Given the description of an element on the screen output the (x, y) to click on. 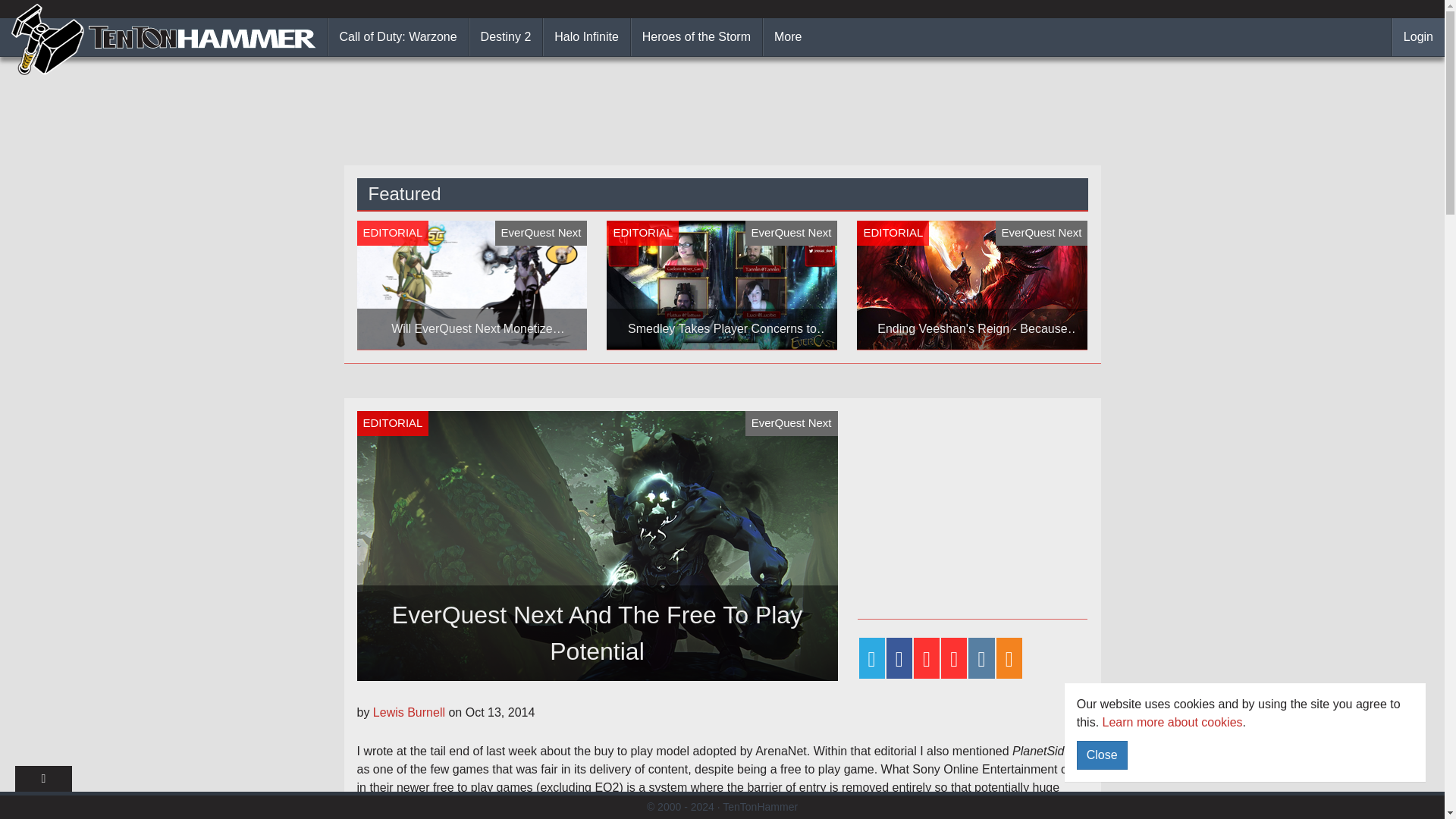
Ending Veeshan's Reign - Because Order is Boring (972, 285)
More (787, 37)
Lewis Burnell (410, 712)
Halo Infinite (586, 37)
Will EverQuest Next Monetize Character Classes? (471, 285)
EverQuest Next And The Free To Play Potential (596, 545)
Heroes of the Storm (695, 37)
Learn more about cookies (1172, 721)
Smedley Takes Player Concerns to Heart (722, 285)
Call of Duty: Warzone (398, 37)
Destiny 2 (505, 37)
